Given the description of an element on the screen output the (x, y) to click on. 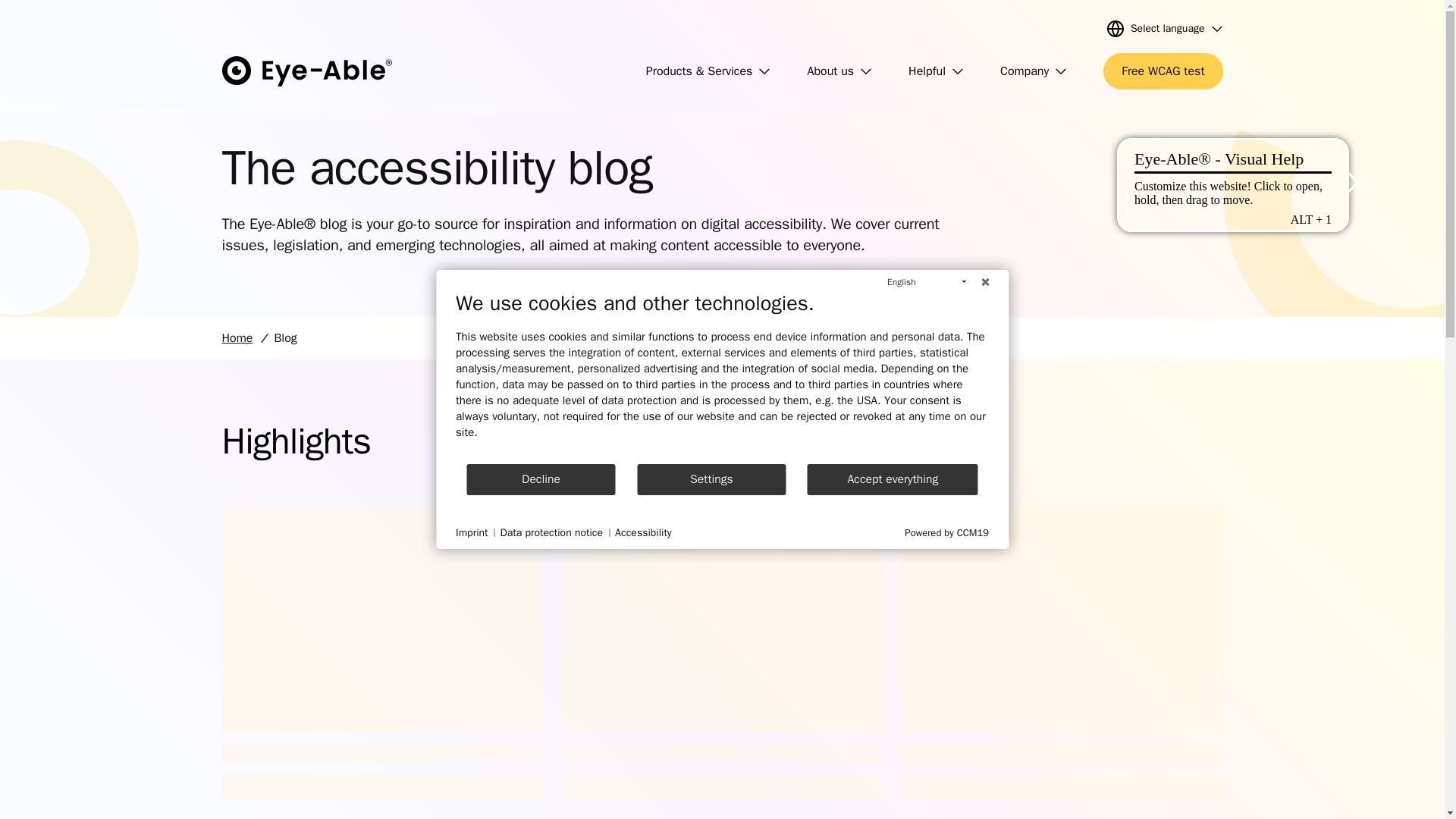
Select language (1164, 28)
Free WCAG test (1163, 71)
About us (839, 71)
Company (1033, 71)
Helpful (935, 71)
